Given the description of an element on the screen output the (x, y) to click on. 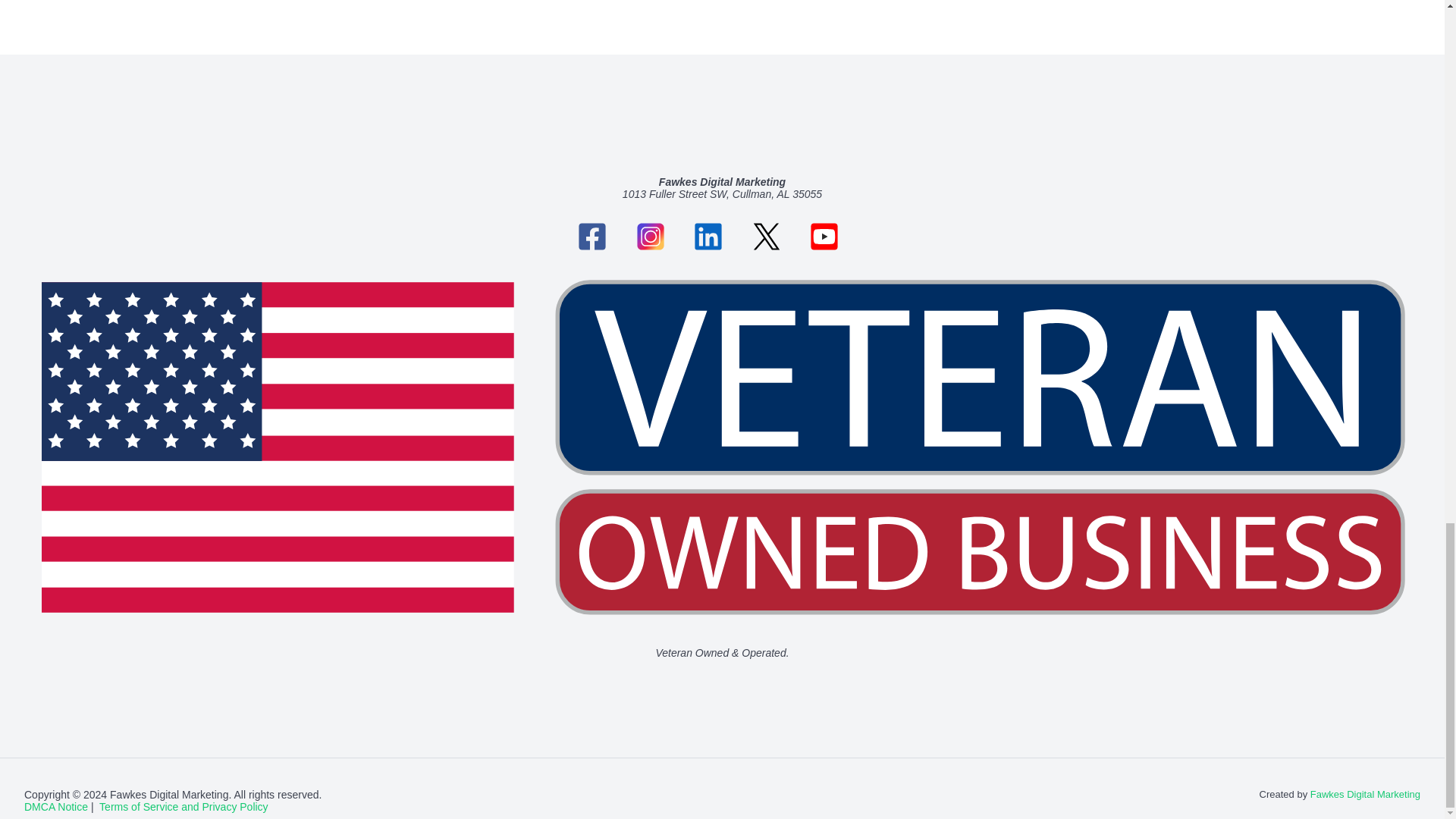
Terms of Service and Privacy Policy (183, 806)
Fawkes Digital Marketing's Facebook Page (601, 235)
Fawkes Digital Marketing (1365, 794)
Fawkes Digital Marketing's YouTube Page (833, 235)
Fawkes Digital Marketing's Instagram Page (659, 235)
Fawkes Digital Marketing's Twitter Page (775, 235)
Fawkes Digital Marketing's LinkedIn Page (717, 235)
DMCA Notice (55, 806)
